Given the description of an element on the screen output the (x, y) to click on. 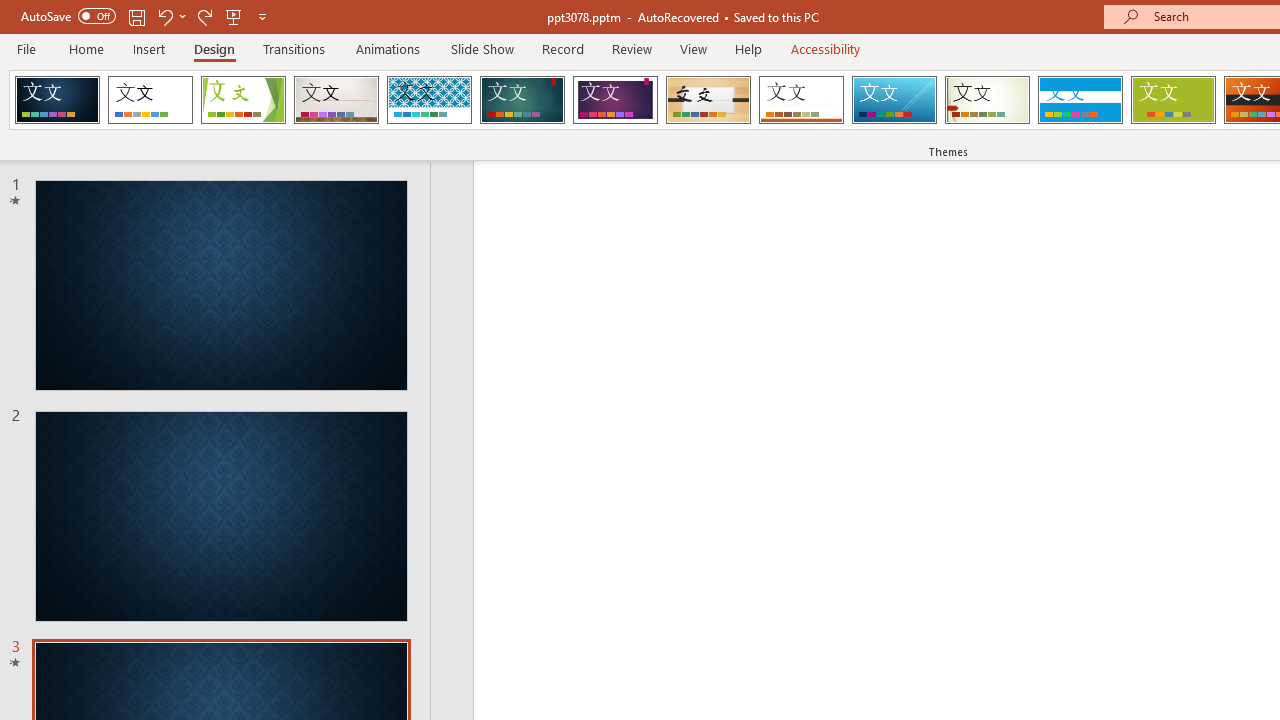
Basis (1172, 100)
Wisp (987, 100)
Integral (429, 100)
Banded (1080, 100)
Slice (893, 100)
Office Theme (150, 100)
